Given the description of an element on the screen output the (x, y) to click on. 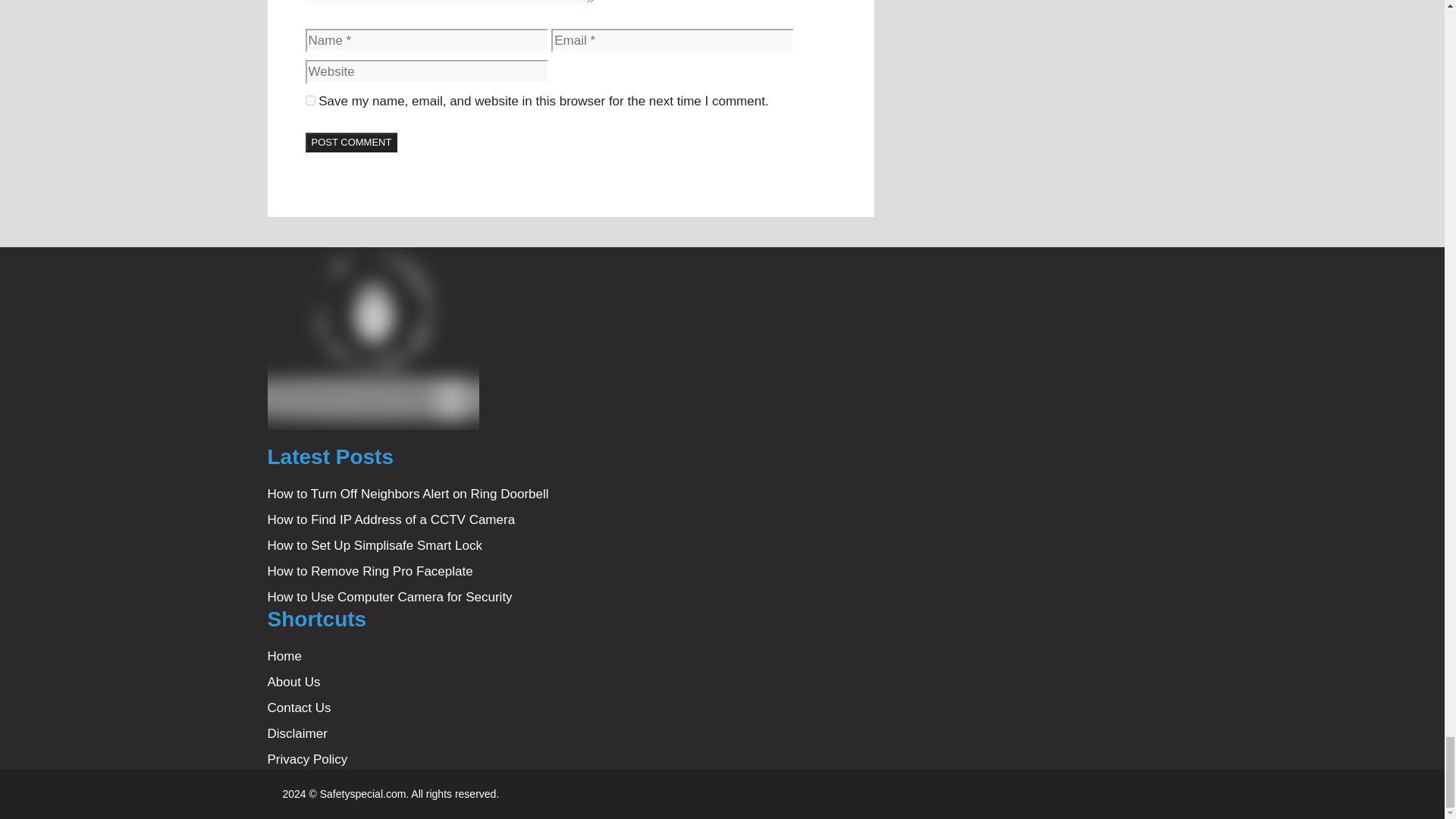
Post Comment (350, 142)
How to Find IP Address of a CCTV Camera (390, 519)
How to Turn Off Neighbors Alert on Ring Doorbell (407, 493)
yes (309, 100)
How to Use Computer Camera for Security (389, 596)
Contact Us (298, 707)
How to Remove Ring Pro Faceplate (368, 571)
How to Set Up Simplisafe Smart Lock (373, 545)
About Us (293, 681)
Disclaimer (296, 733)
